Given the description of an element on the screen output the (x, y) to click on. 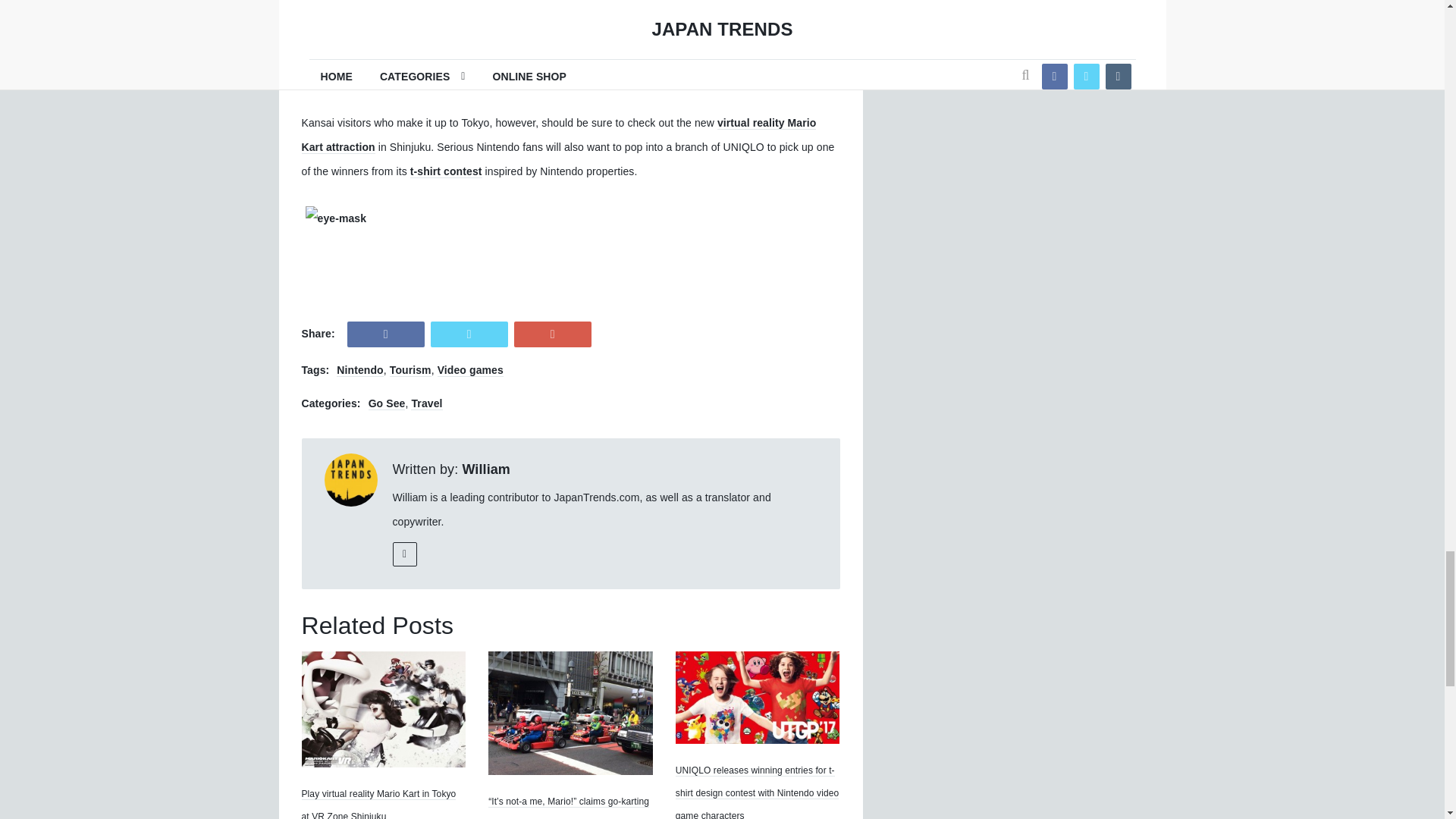
Go See (387, 403)
William (486, 469)
Play virtual reality Mario Kart in Tokyo at VR Zone Shinjuku (383, 709)
Share to Facebook (386, 334)
virtual reality Mario Kart attraction (558, 135)
Tweet to Twitter (469, 334)
t-shirt contest (445, 171)
Video games (470, 369)
Tourism (410, 369)
Travel (426, 403)
